Given the description of an element on the screen output the (x, y) to click on. 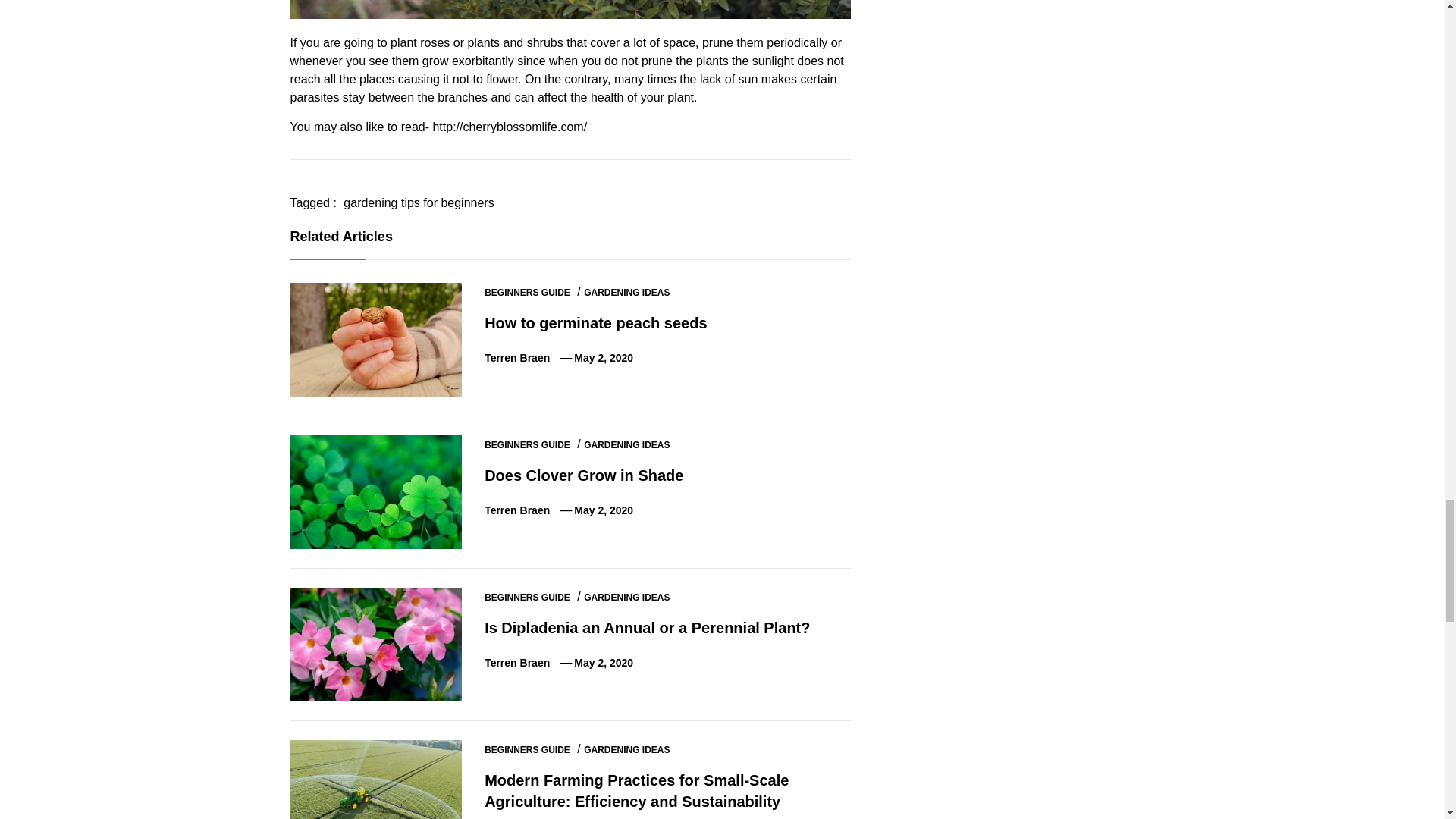
GARDENING IDEAS (626, 292)
gardening tips for beginners (418, 202)
How to germinate peach seeds (595, 322)
Prune your plants (569, 9)
BEGINNERS GUIDE (527, 292)
